Given the description of an element on the screen output the (x, y) to click on. 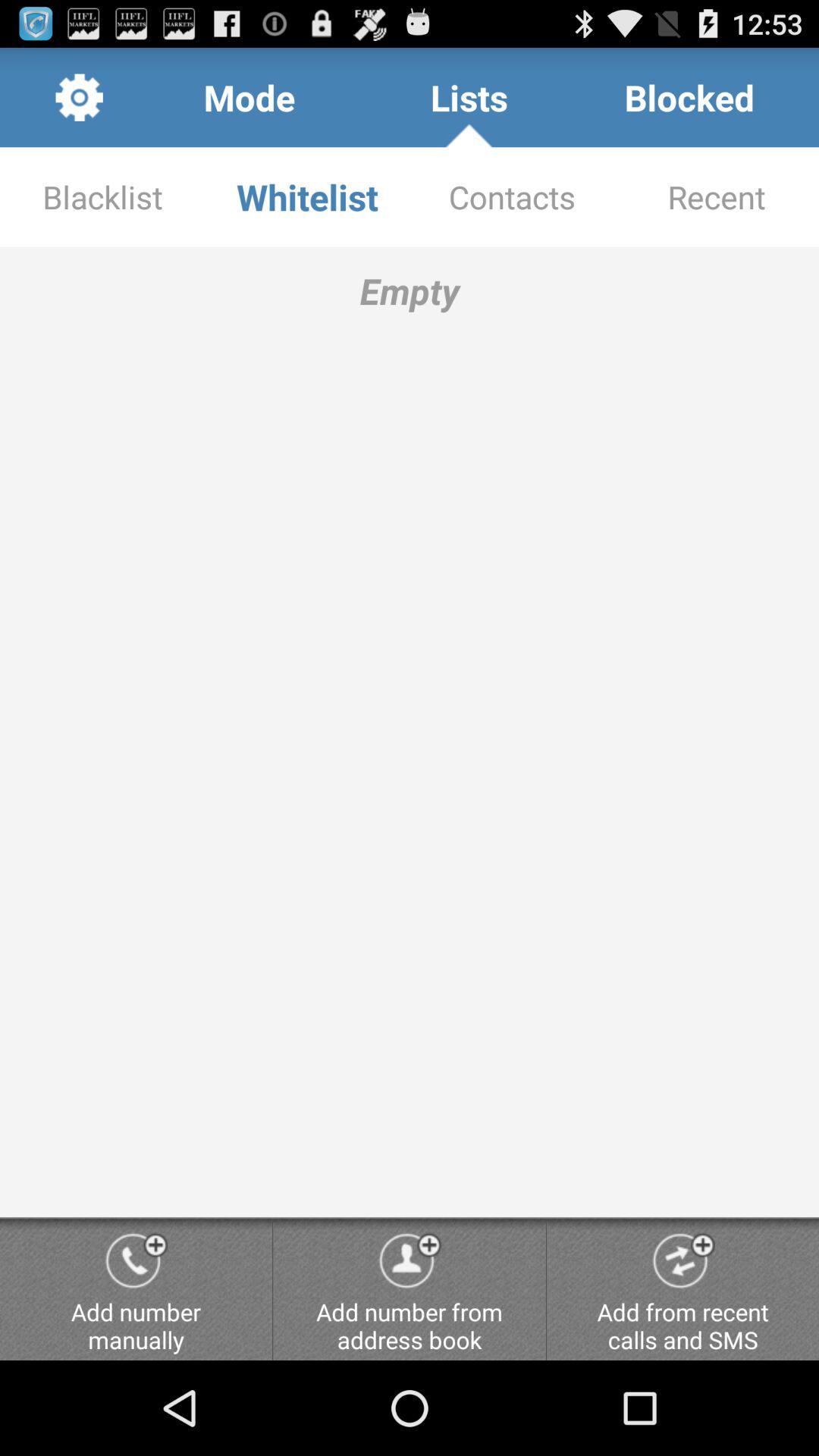
press whitelist (306, 196)
